Given the description of an element on the screen output the (x, y) to click on. 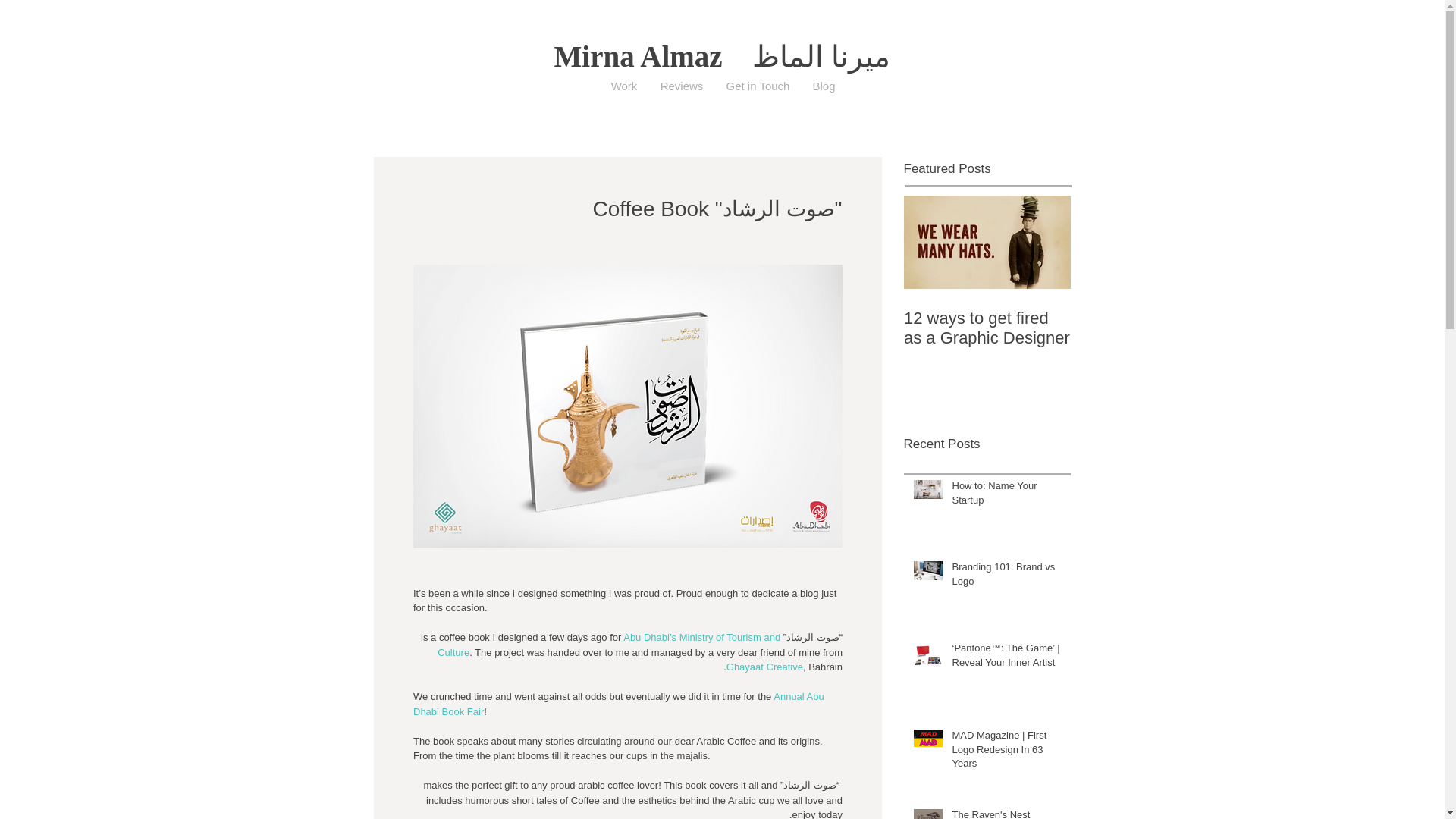
Annual Abu Dhabi Book Fair (618, 704)
Work (622, 86)
How to: Name Your Startup (1006, 495)
Ghayaat Creative (763, 666)
Branding 101: Brand vs Logo (1006, 576)
Reviews (681, 86)
12 ways to get fired as a Graphic Designer (987, 328)
Get in Touch (757, 86)
Blog (822, 86)
The Raven's Nest (1006, 813)
